Given the description of an element on the screen output the (x, y) to click on. 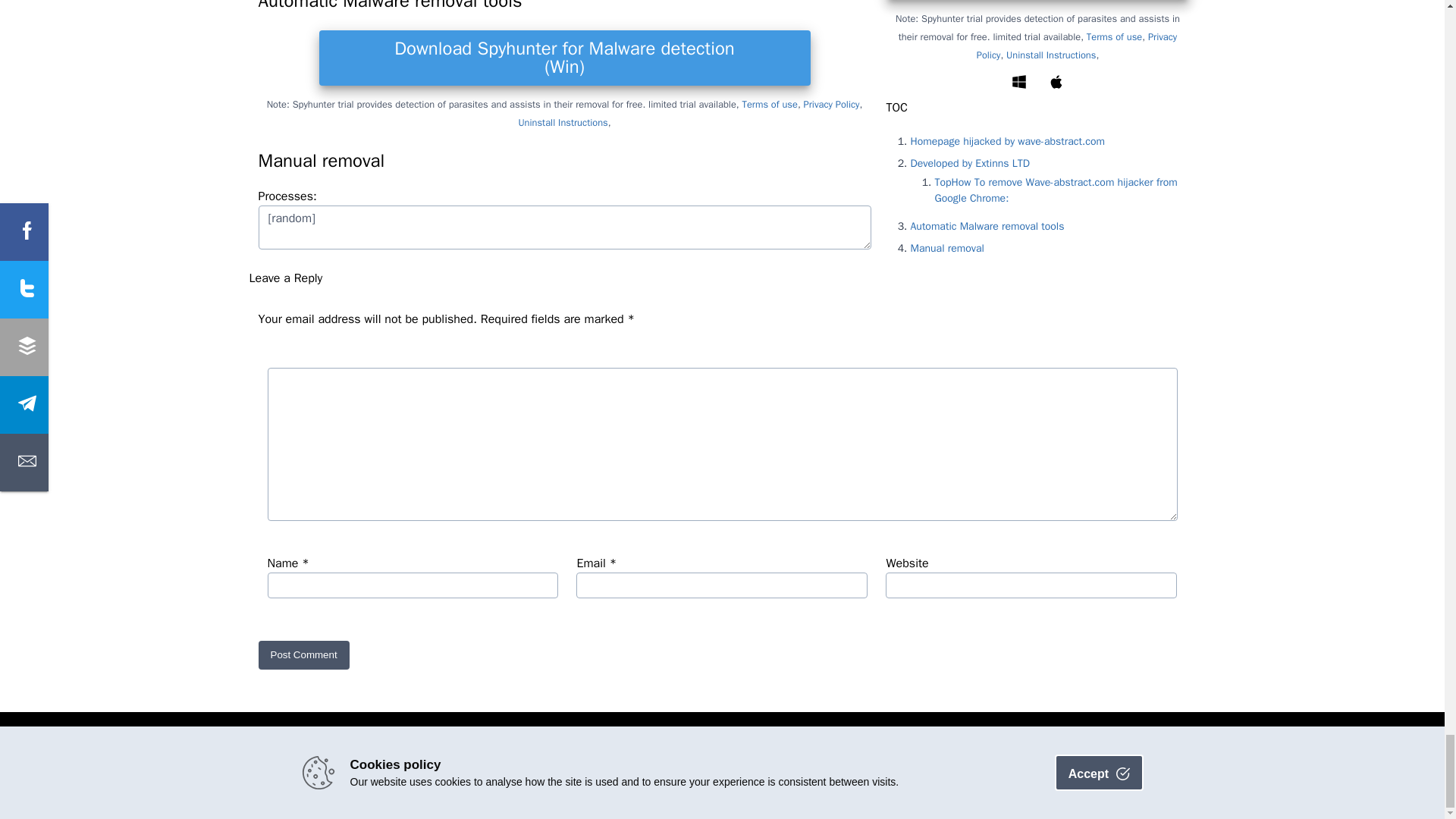
Terms of use (769, 104)
Privacy Policy (831, 104)
Uninstall Instructions (562, 123)
Post Comment (303, 654)
